Given the description of an element on the screen output the (x, y) to click on. 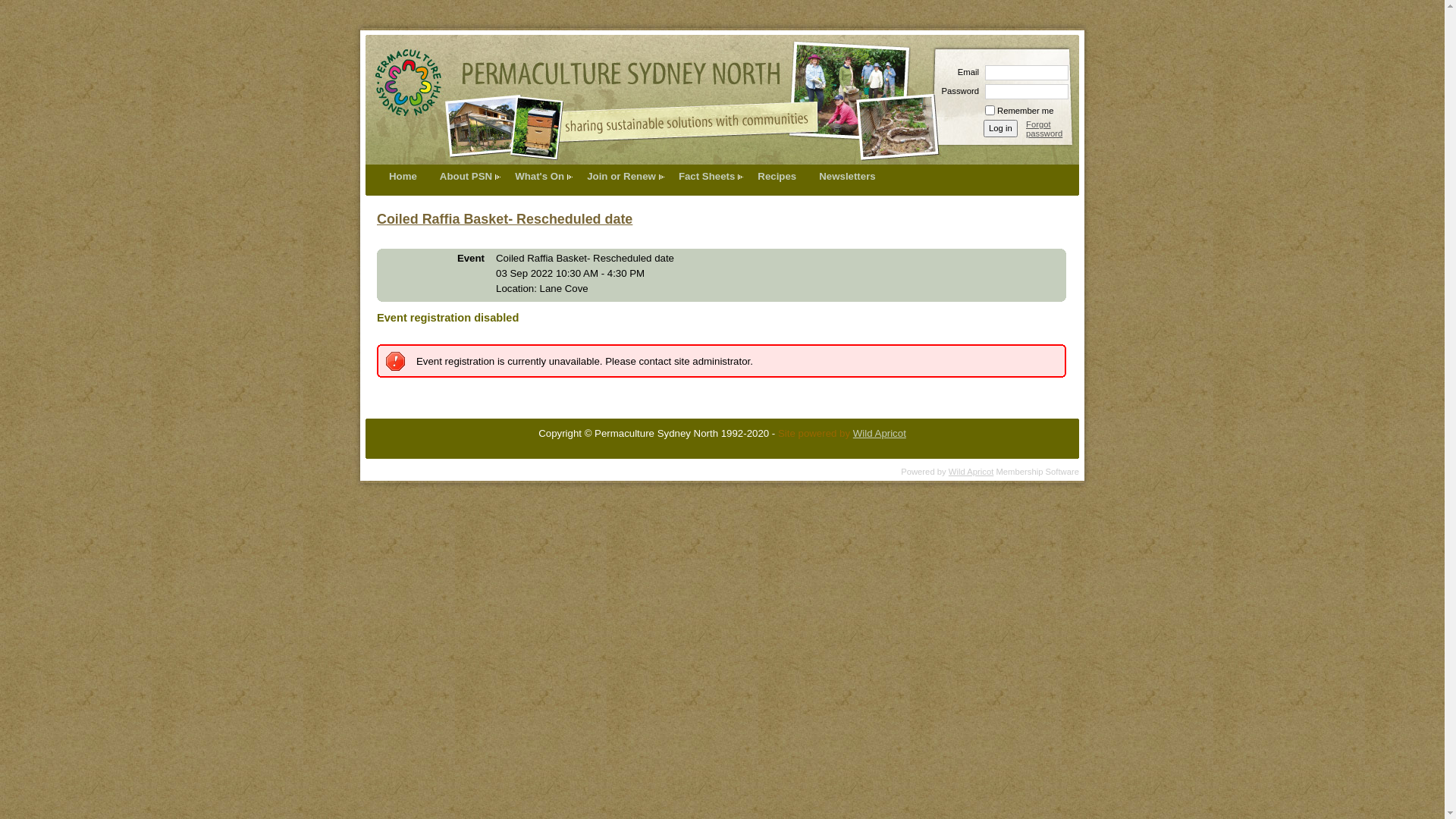
Wild Apricot Element type: text (879, 433)
Join or Renew Element type: text (620, 176)
What's On Element type: text (539, 176)
About PSN Element type: text (465, 176)
Coiled Raffia Basket- Rescheduled date Element type: text (504, 218)
Log in Element type: text (1000, 128)
Fact Sheets Element type: text (706, 176)
Home Element type: text (403, 176)
Forgot password Element type: text (1052, 128)
Newsletters Element type: text (847, 176)
Wild Apricot Element type: text (970, 471)
Recipes Element type: text (776, 176)
